Given the description of an element on the screen output the (x, y) to click on. 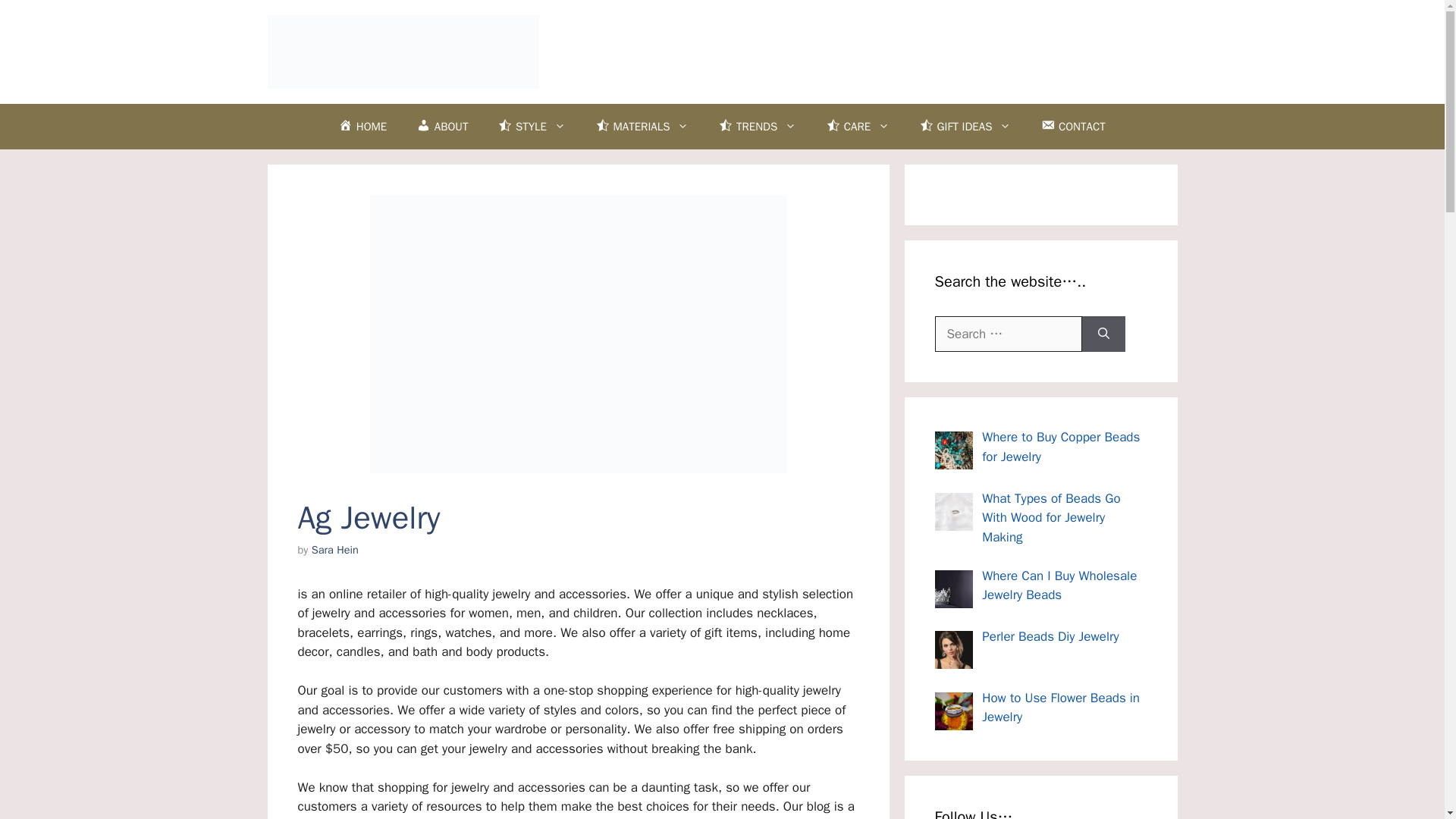
Search for: (1007, 334)
Perler Beads Diy Jewelry 7 (953, 649)
How to Use Flower Beads in Jewelry 8 (953, 711)
Where Can I Buy Wholesale Jewelry Beads 6 (953, 589)
Where to Buy Copper Beads for Jewelry 4 (953, 450)
View all posts by Sara Hein (334, 549)
What Types of Beads Go With Wood for Jewelry Making 5 (953, 511)
Ag Jewelry 1 (578, 333)
